Given the description of an element on the screen output the (x, y) to click on. 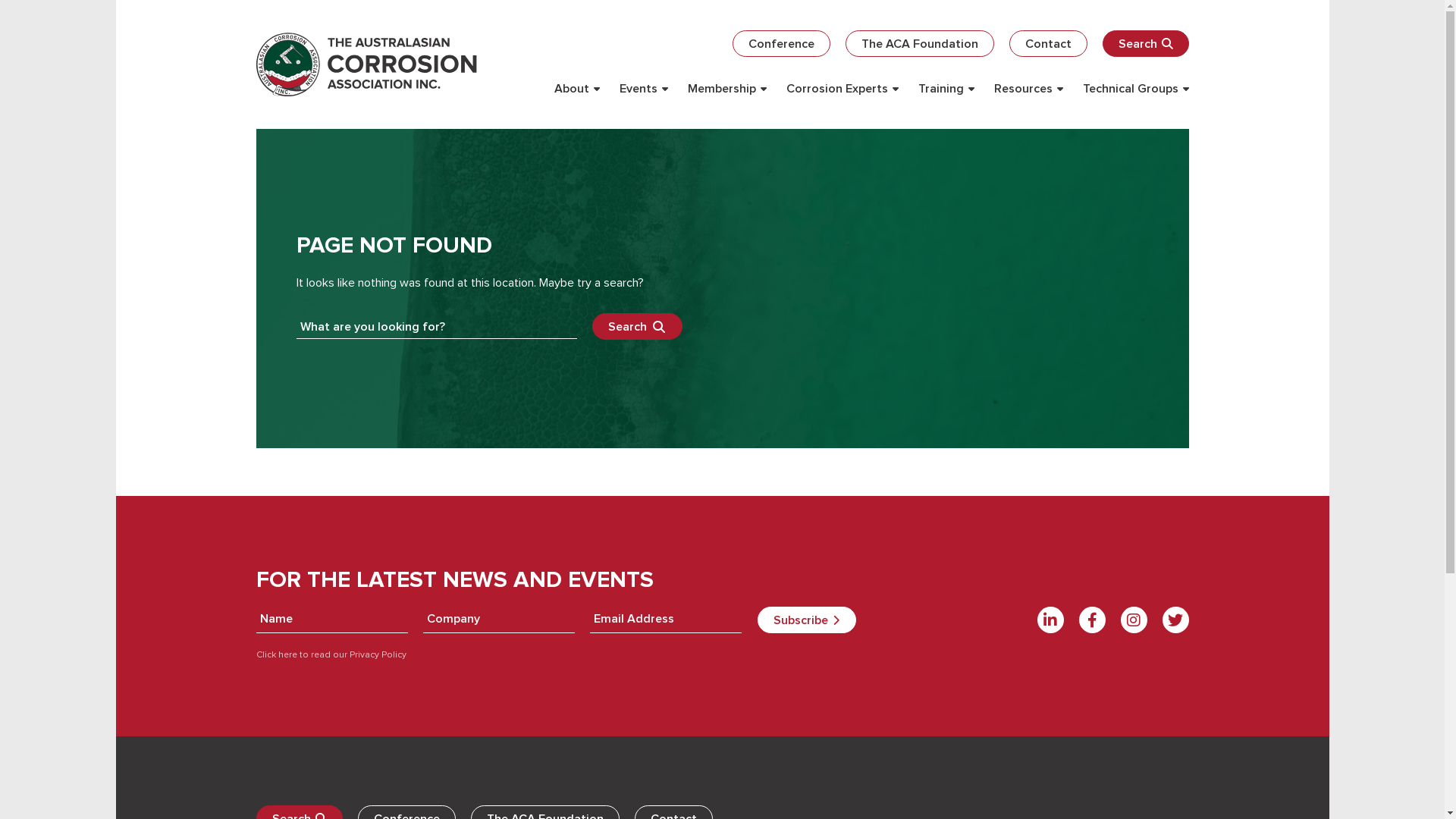
Search Element type: text (1145, 43)
Technical Groups Element type: text (1135, 88)
The ACA Foundation Element type: text (918, 43)
Resources Element type: text (1027, 88)
Corrosion Experts Element type: text (841, 88)
Conference Element type: text (781, 43)
Search Element type: text (636, 326)
Training Element type: text (945, 88)
Contact Element type: text (1047, 43)
Subscribe Element type: text (805, 619)
About Element type: text (576, 88)
Membership Element type: text (726, 88)
Events Element type: text (642, 88)
Privacy Policy Element type: text (376, 654)
